Given the description of an element on the screen output the (x, y) to click on. 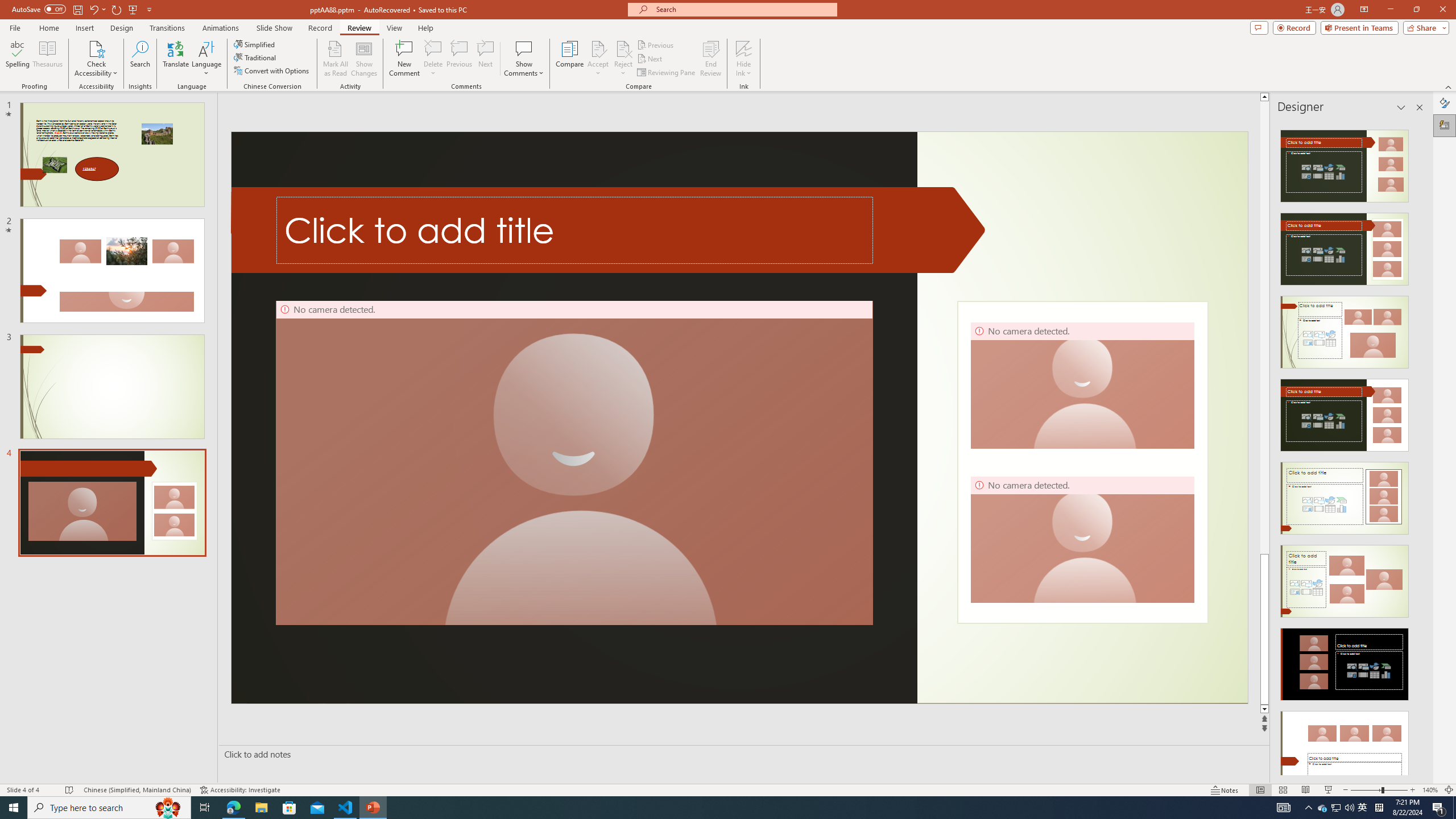
Traditional (255, 56)
Compare (569, 58)
Accept (598, 58)
Reviewing Pane (666, 72)
